Given the description of an element on the screen output the (x, y) to click on. 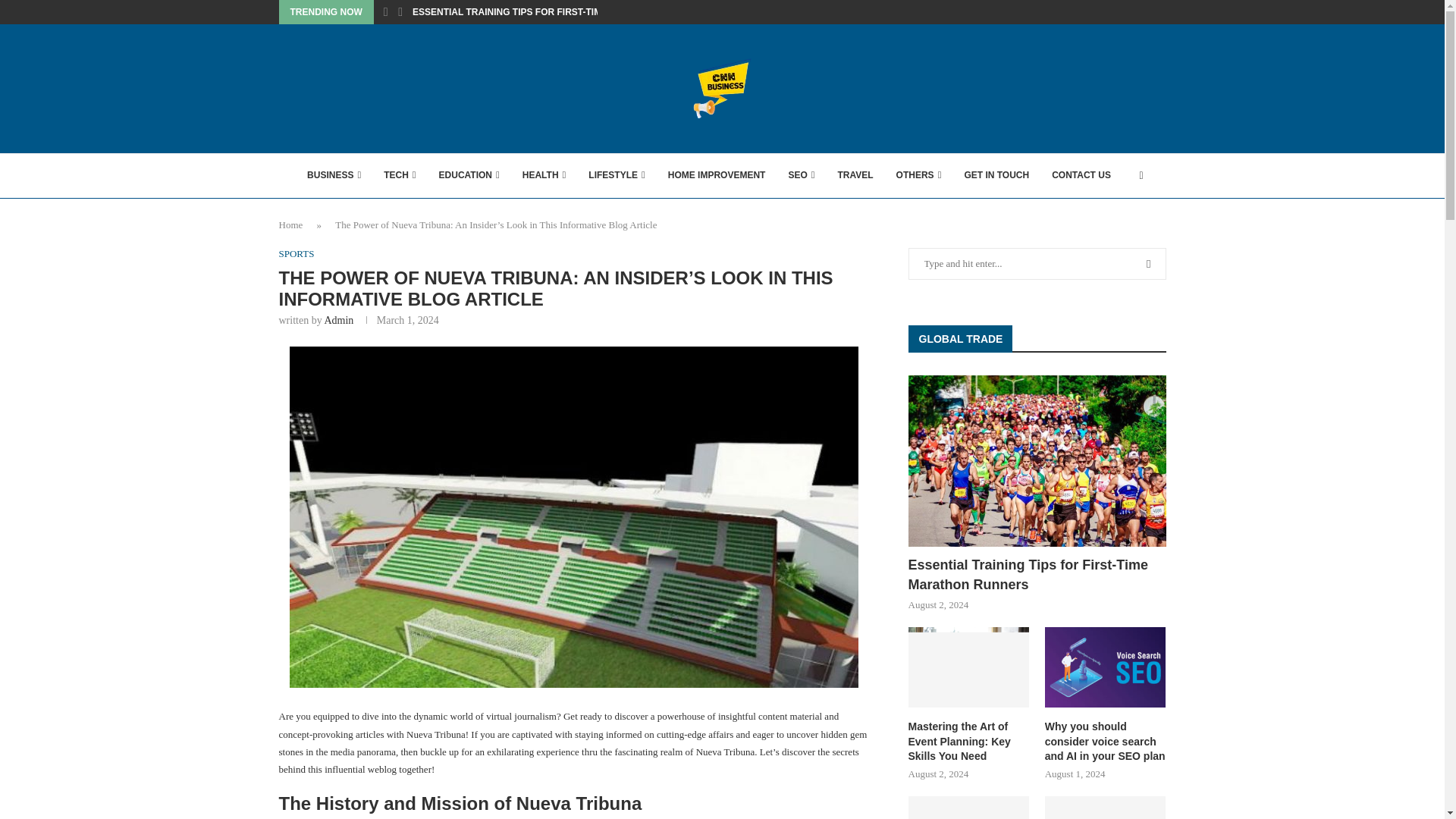
HEALTH (544, 176)
Why you should consider voice search and AI in your SEO plan (1105, 741)
LIFESTYLE (616, 176)
Mastering the Art of Event Planning: Key Skills You Need (968, 741)
TECH (399, 176)
HOME IMPROVEMENT (716, 176)
Essential Training Tips for First-Time Marathon Runners (1037, 461)
BUSINESS (333, 176)
What Are the Benefits of Owning a Hancock Bird? (1105, 807)
Essential Training Tips for First-Time Marathon Runners (1037, 574)
Why you should consider voice search and AI in your SEO plan (1105, 667)
Mastering the Art of Event Planning: Key Skills You Need (968, 667)
ESSENTIAL TRAINING TIPS FOR FIRST-TIME MARATHON RUNNERS (561, 12)
EDUCATION (469, 176)
